Given the description of an element on the screen output the (x, y) to click on. 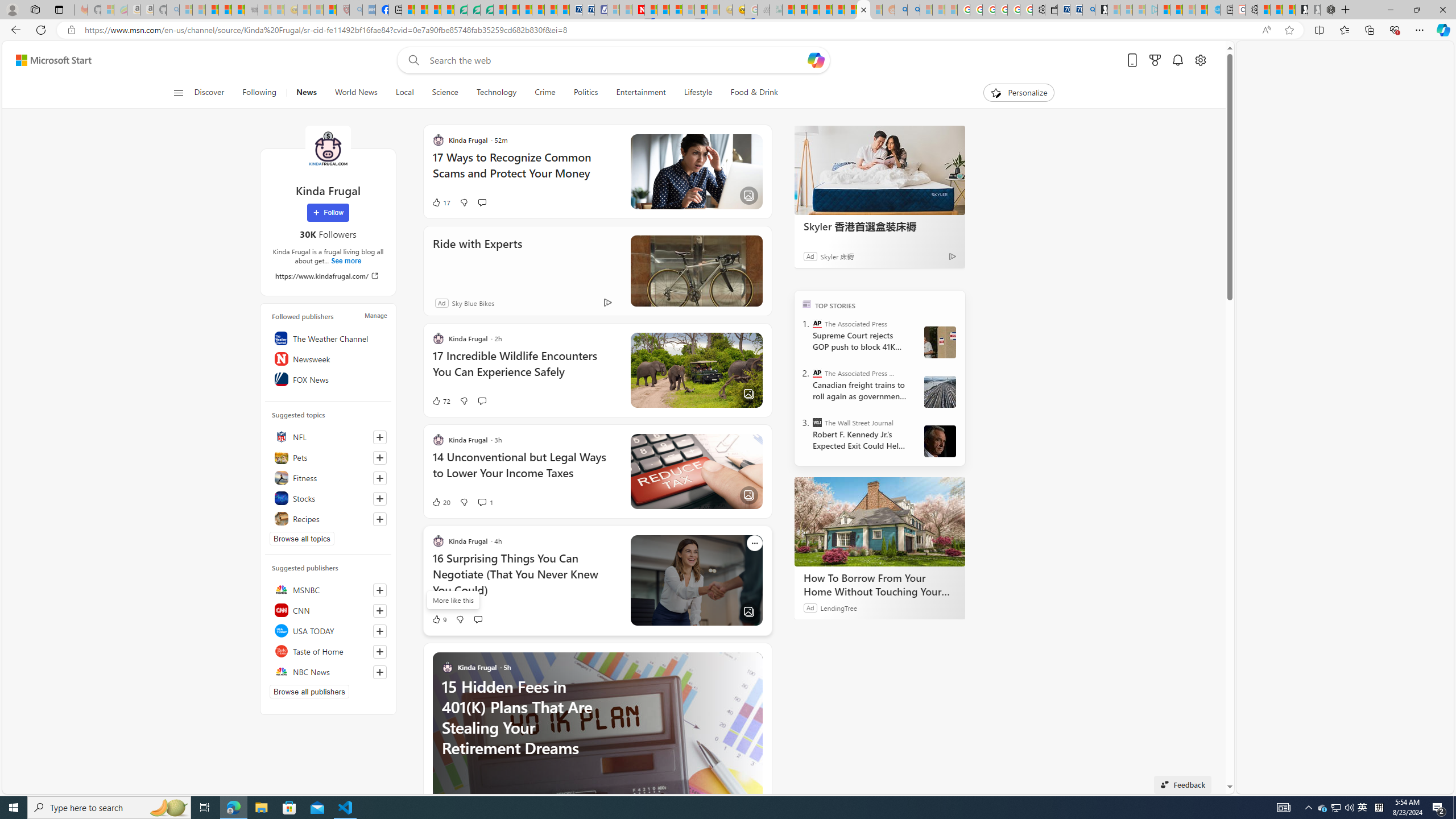
TOP (806, 302)
Follow this source (379, 671)
Ad (440, 302)
Follow (328, 212)
Feedback (1182, 784)
17 Ways to Recognize Common Scams and Protect Your Money (524, 171)
Technology (496, 92)
Discover (213, 92)
